Given the description of an element on the screen output the (x, y) to click on. 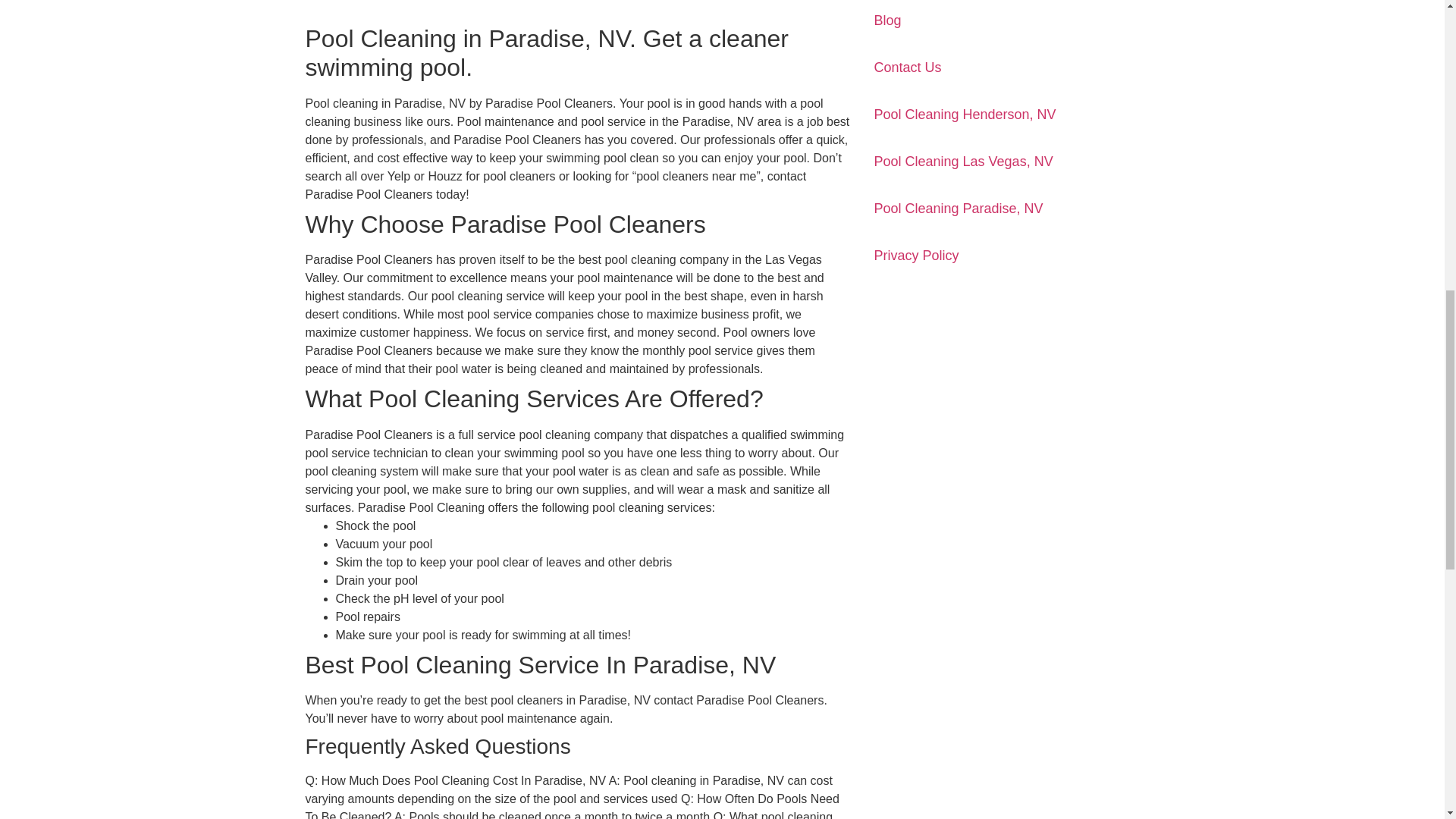
Blog (887, 20)
Pool Cleaning Paradise, NV (957, 208)
Pool Cleaning Henderson, NV (964, 114)
Privacy Policy (915, 255)
Pool Cleaning Las Vegas, NV (962, 160)
Contact Us (906, 67)
